Given the description of an element on the screen output the (x, y) to click on. 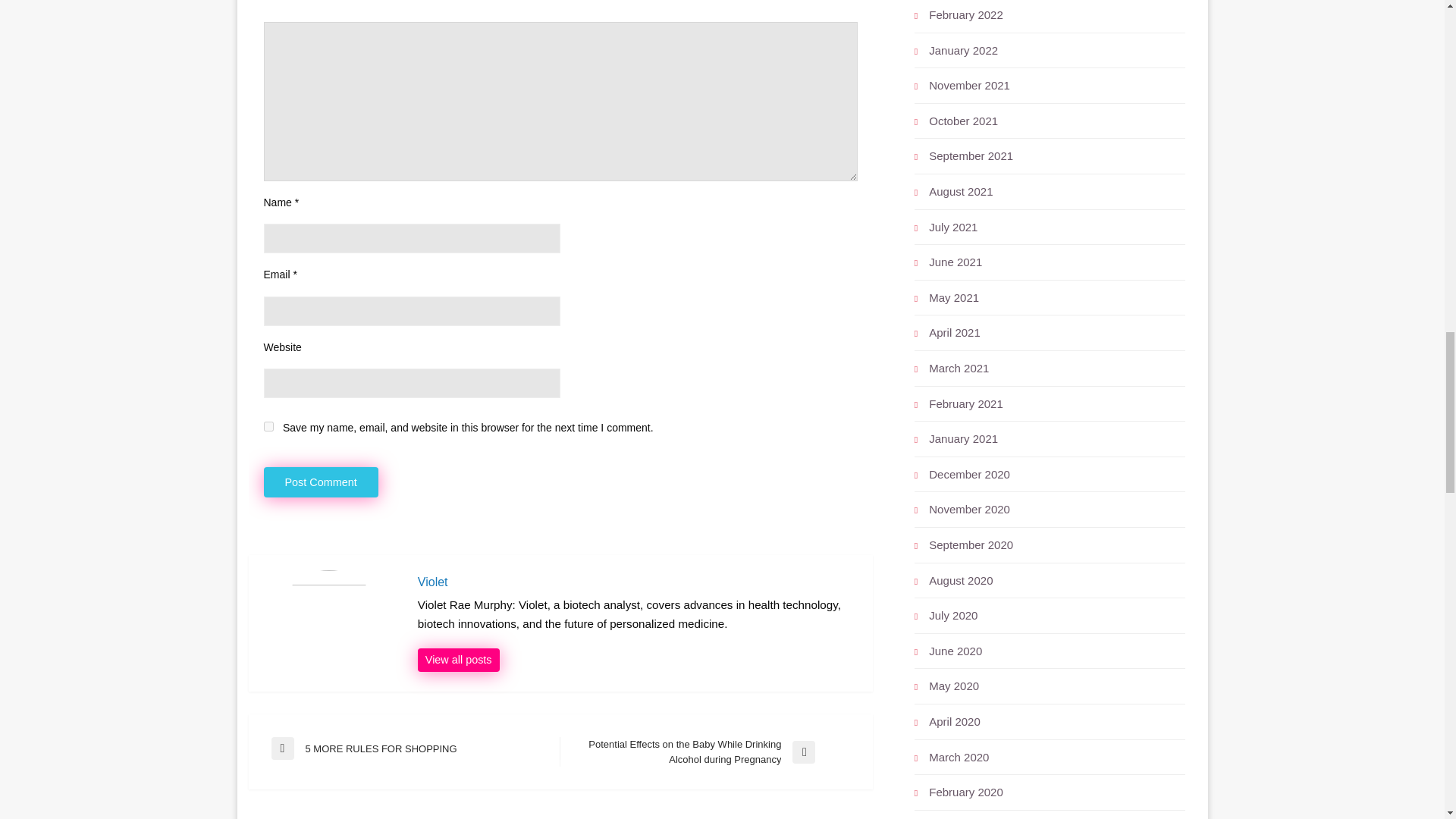
Post Comment (320, 481)
yes (268, 426)
Violet (637, 581)
Violet (637, 581)
Violet (415, 748)
Post Comment (458, 660)
View all posts (320, 481)
